Given the description of an element on the screen output the (x, y) to click on. 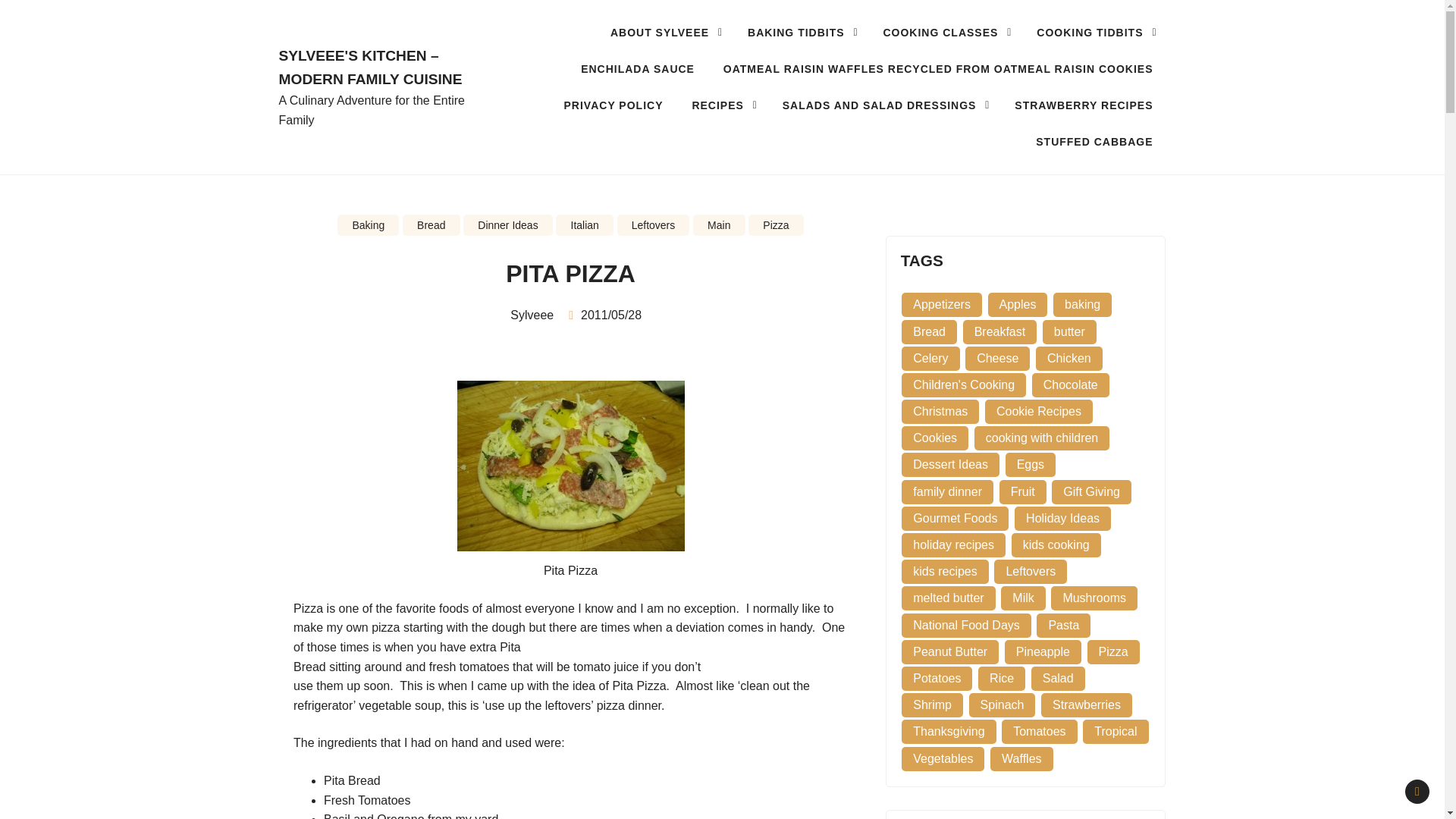
COOKING TIDBITS (1094, 32)
ABOUT SYLVEEE (664, 32)
PRIVACY POLICY (614, 104)
OATMEAL RAISIN WAFFLES RECYCLED FROM OATMEAL RAISIN COOKIES (938, 68)
ENCHILADA SAUCE (637, 68)
COOKING CLASSES (944, 32)
BAKING TIDBITS (801, 32)
RECIPES (721, 104)
